Given the description of an element on the screen output the (x, y) to click on. 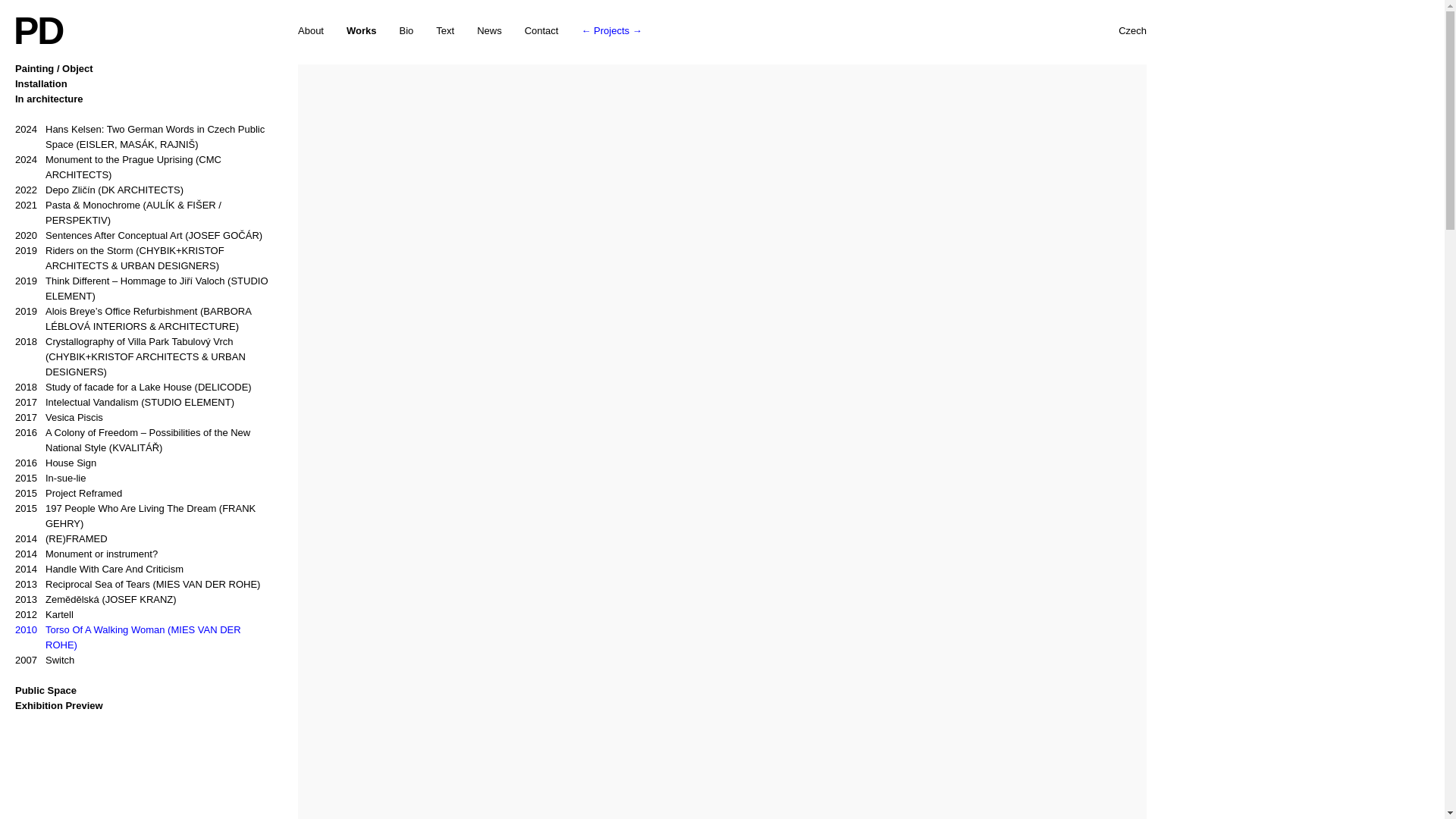
Czech (1132, 30)
PD (38, 30)
About (310, 30)
Contact (541, 30)
News (489, 30)
Text (444, 30)
Works (361, 30)
Bio (405, 30)
